Given the description of an element on the screen output the (x, y) to click on. 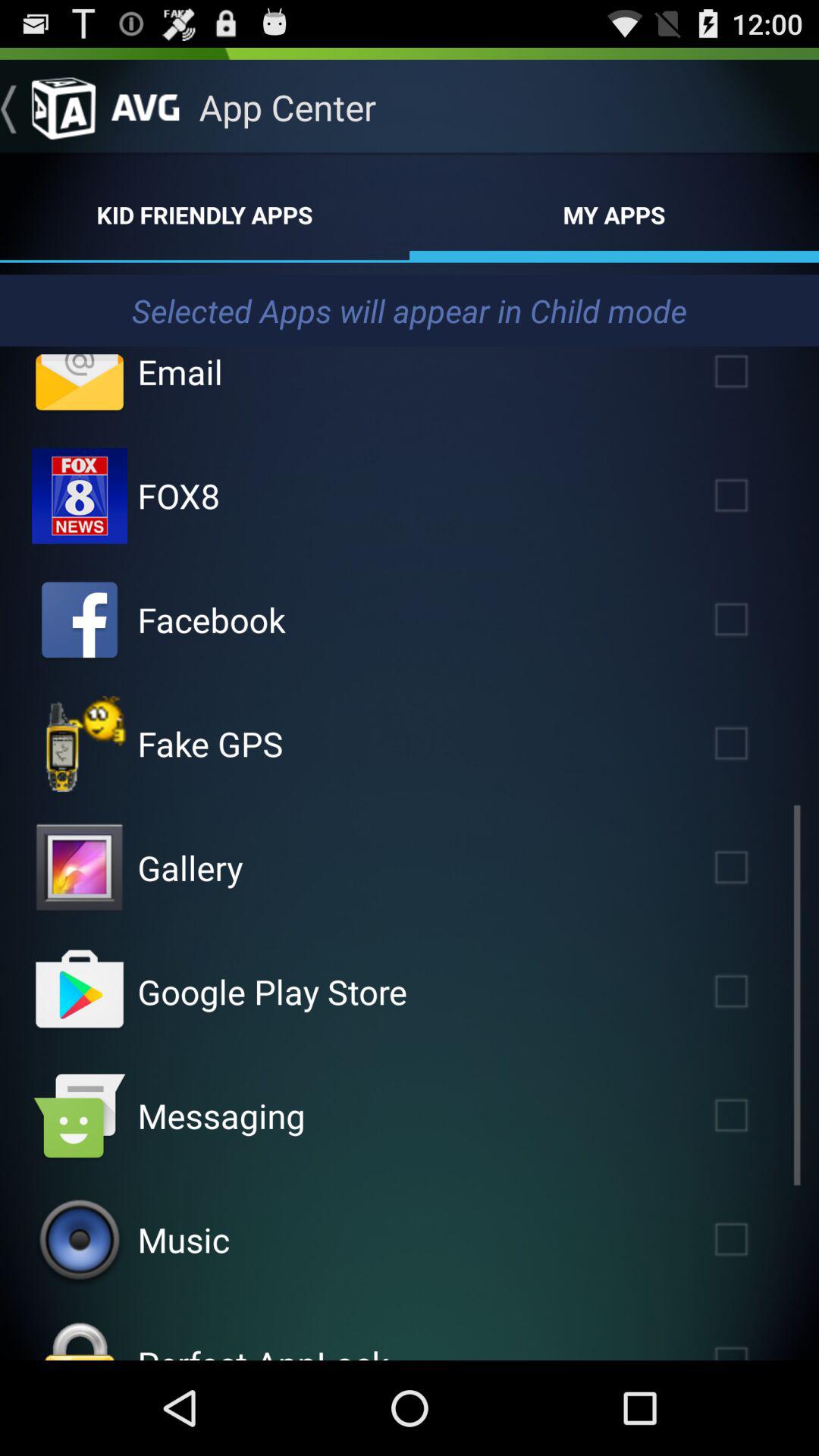
turn on gallery icon (189, 867)
